Given the description of an element on the screen output the (x, y) to click on. 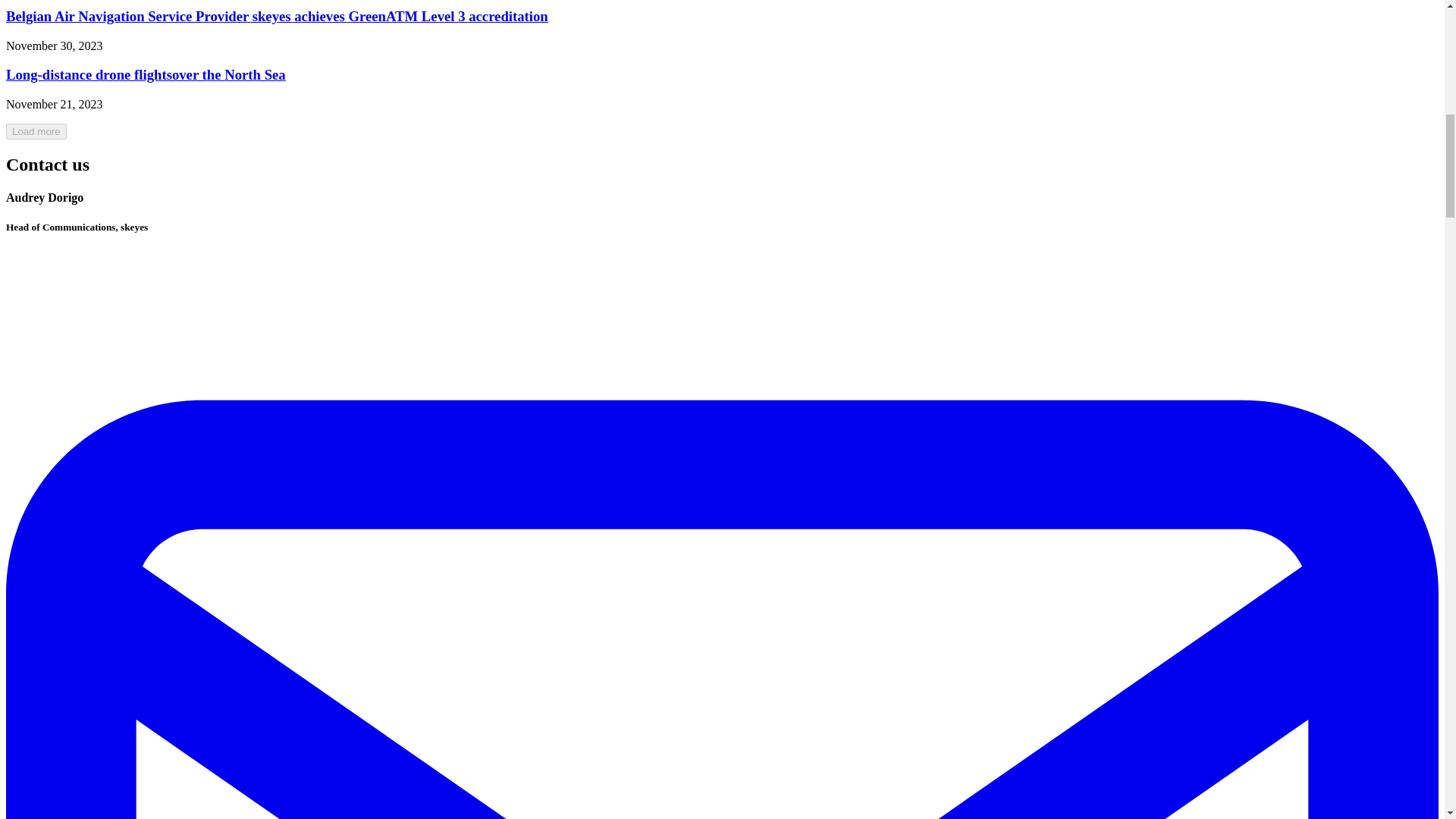
Long-distance drone flightsover the North Sea (145, 74)
Load more (35, 131)
